Given the description of an element on the screen output the (x, y) to click on. 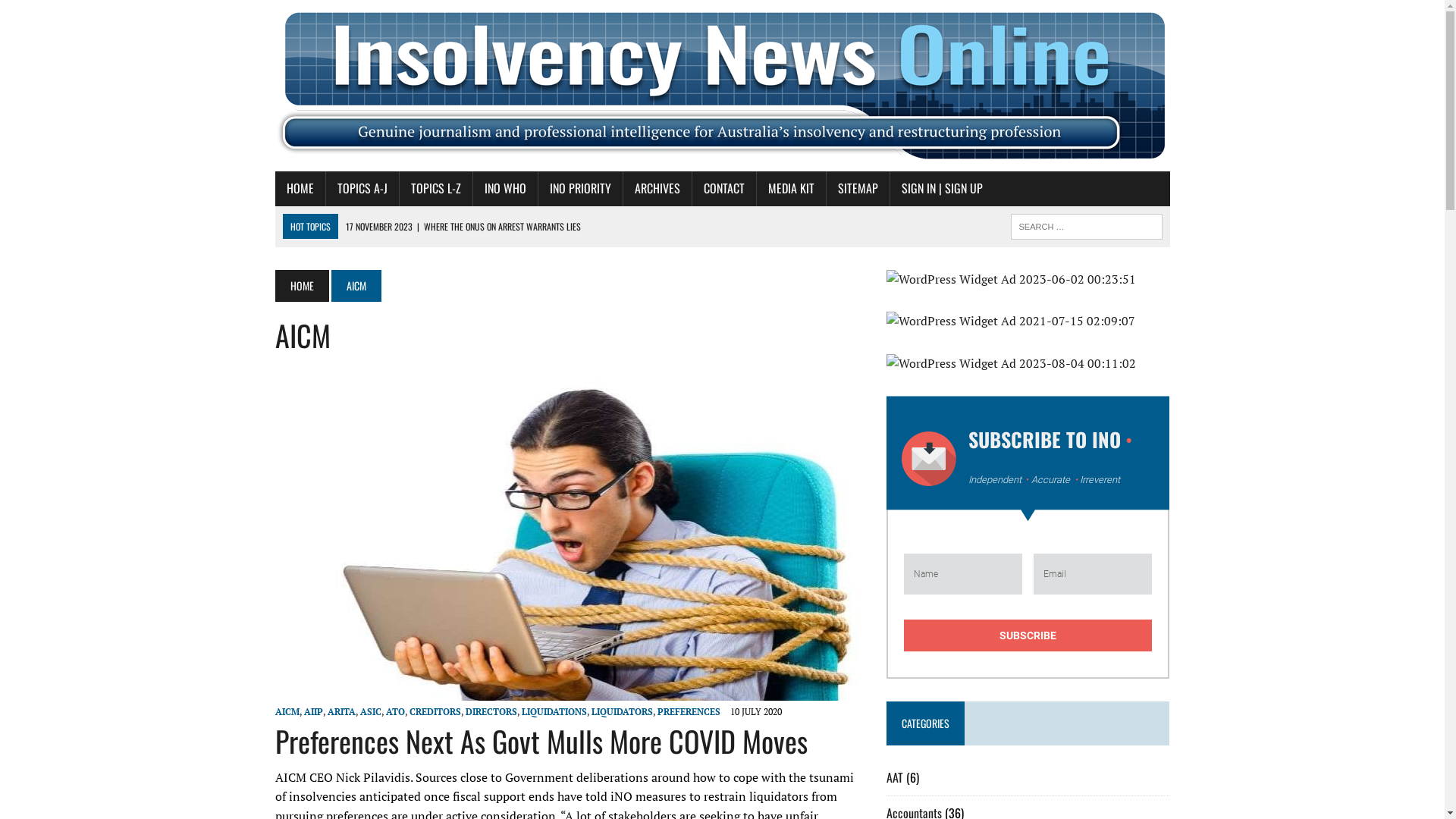
ARCHIVES Element type: text (657, 188)
SIGN IN | SIGN UP Element type: text (942, 188)
LIQUIDATIONS Element type: text (553, 711)
LIQUIDATORS Element type: text (621, 711)
MEDIA KIT Element type: text (790, 188)
HOME Element type: text (301, 285)
set_22_icon Element type: hover (928, 458)
17 NOVEMBER 2023 | WHERE THE ONUS ON ARREST WARRANTS LIES Element type: text (462, 226)
WordPress Widget Ad 2021-07-15 02:09:07 Element type: hover (1028, 321)
PREFERENCES Element type: text (687, 711)
TOPICS A-J Element type: text (362, 188)
AICM Element type: text (286, 711)
WordPress Widget Ad 2023-08-04 00:11:02 Element type: hover (1028, 363)
ASIC Element type: text (369, 711)
INO WHO Element type: text (505, 188)
SUBSCRIBE Element type: text (1027, 635)
INO PRIORITY Element type: text (580, 188)
Preferences next as Govt mulls more COVID moves Element type: hover (568, 690)
HOME Element type: text (299, 188)
AAT Element type: text (894, 777)
ATO Element type: text (394, 711)
DIRECTORS Element type: text (491, 711)
ARITA Element type: text (341, 711)
CONTACT Element type: text (723, 188)
TOPICS L-Z Element type: text (434, 188)
SITEMAP Element type: text (857, 188)
CREDITORS Element type: text (435, 711)
Search Element type: text (75, 14)
WordPress Widget Ad 2023-06-02 00:23:51 Element type: hover (1028, 279)
Preferences Next As Govt Mulls More COVID Moves Element type: text (540, 740)
AIIP Element type: text (312, 711)
Insolvency News Online Element type: hover (721, 85)
